Given the description of an element on the screen output the (x, y) to click on. 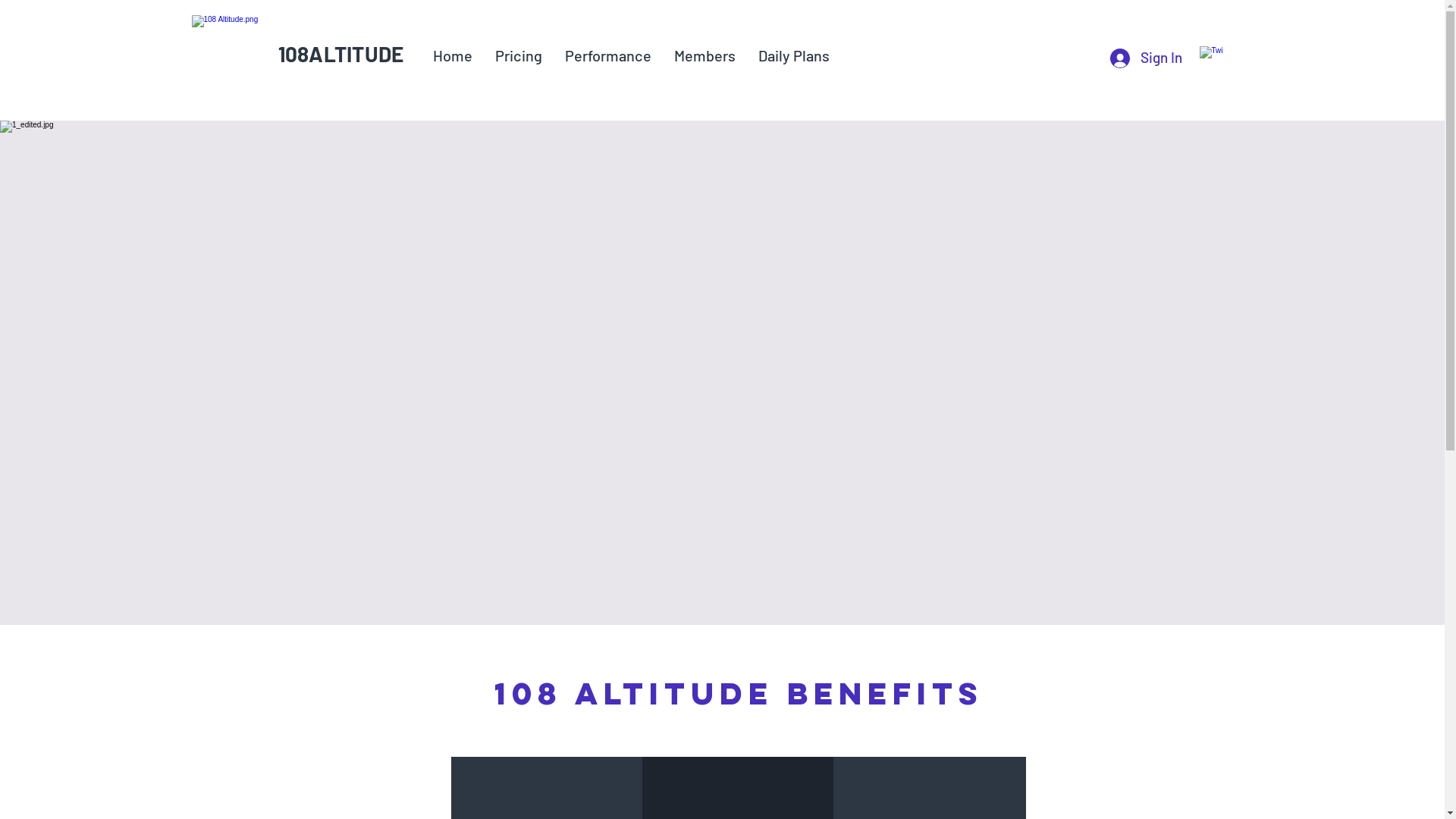
108ALTITUDE Element type: text (340, 53)
Performance Element type: text (607, 55)
Daily Plans Element type: text (793, 55)
108 Altitude Logo.jpeg Element type: hover (232, 54)
Sign In Element type: text (1144, 57)
Members Element type: text (704, 55)
Pricing Element type: text (518, 55)
Home Element type: text (452, 55)
